Given the description of an element on the screen output the (x, y) to click on. 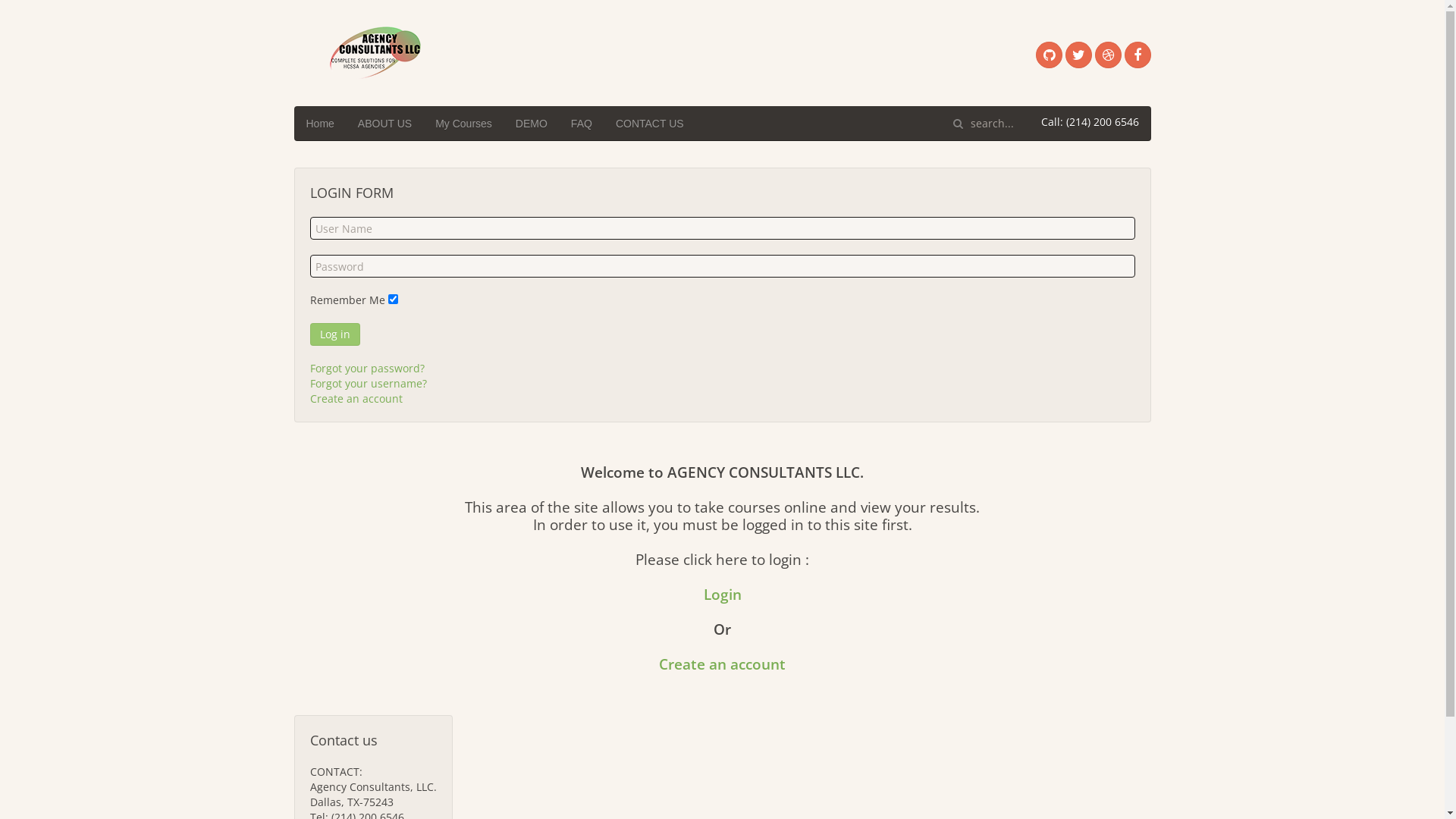
FAQ Element type: text (581, 123)
My Courses Element type: text (463, 123)
DEMO Element type: text (531, 123)
CONTACT US Element type: text (649, 123)
Home Element type: text (320, 123)
ABOUT US Element type: text (384, 123)
Login Element type: text (722, 593)
Log in Element type: text (334, 334)
Forgot your password? Element type: text (366, 367)
Create an account Element type: text (355, 398)
Forgot your username? Element type: text (367, 383)
Create an account Element type: text (721, 663)
